Given the description of an element on the screen output the (x, y) to click on. 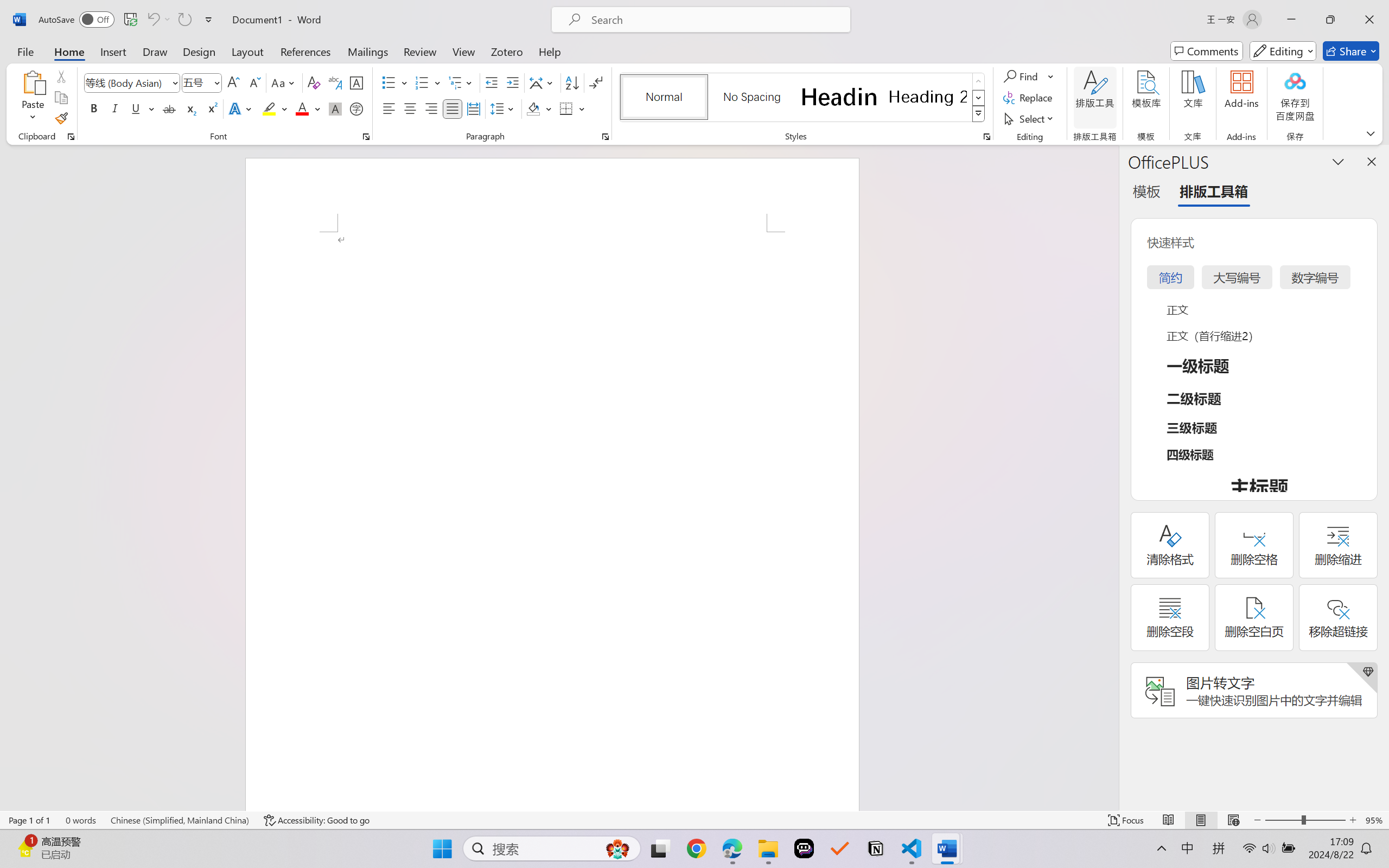
Can't Repeat (184, 19)
